Given the description of an element on the screen output the (x, y) to click on. 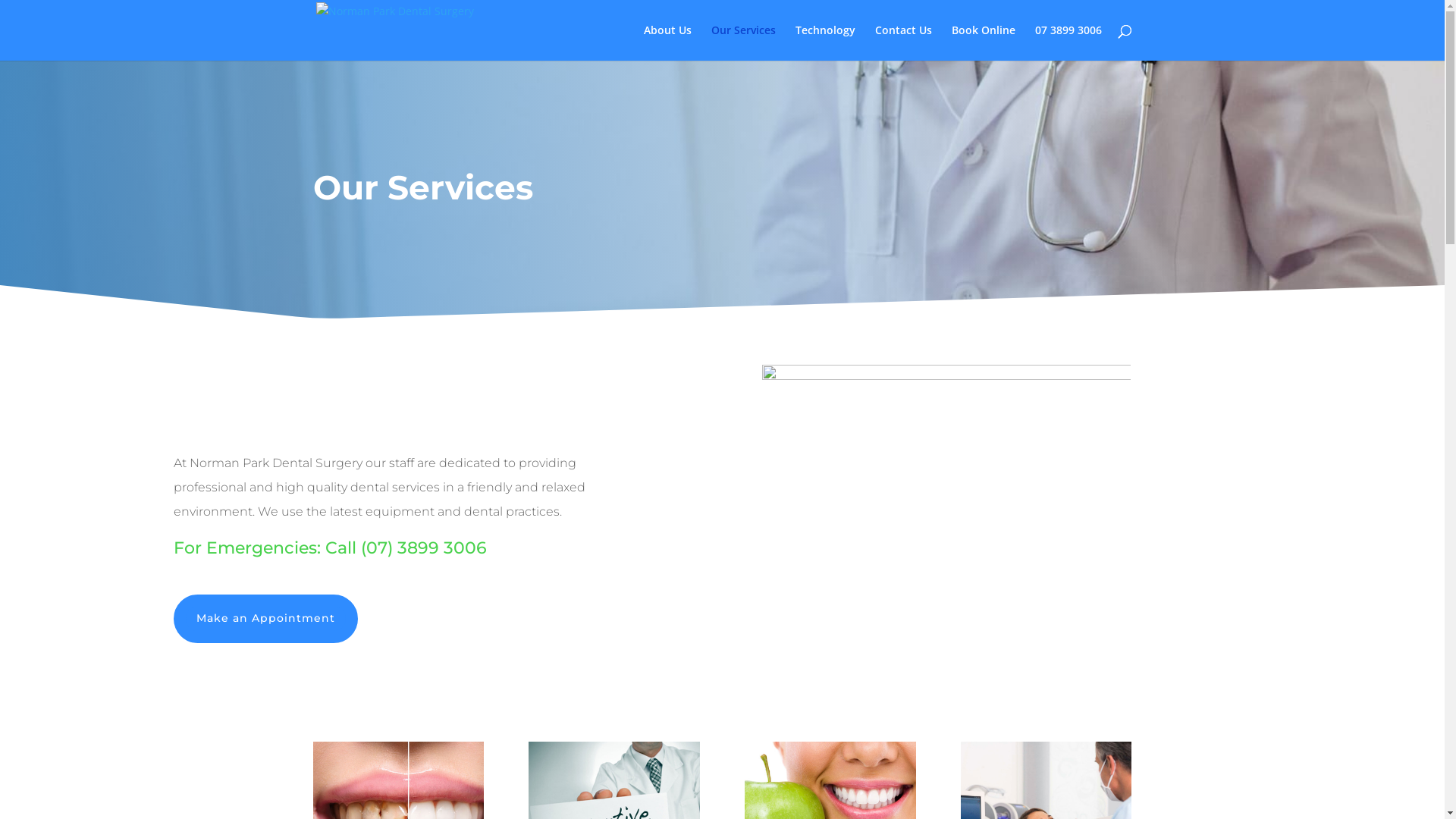
Make an Appointment Element type: text (265, 618)
About Us Element type: text (666, 42)
07 3899 3006 Element type: text (1067, 42)
Contact Us Element type: text (903, 42)
Technology Element type: text (824, 42)
Our Services Element type: text (743, 42)
Book Online Element type: text (982, 42)
